Given the description of an element on the screen output the (x, y) to click on. 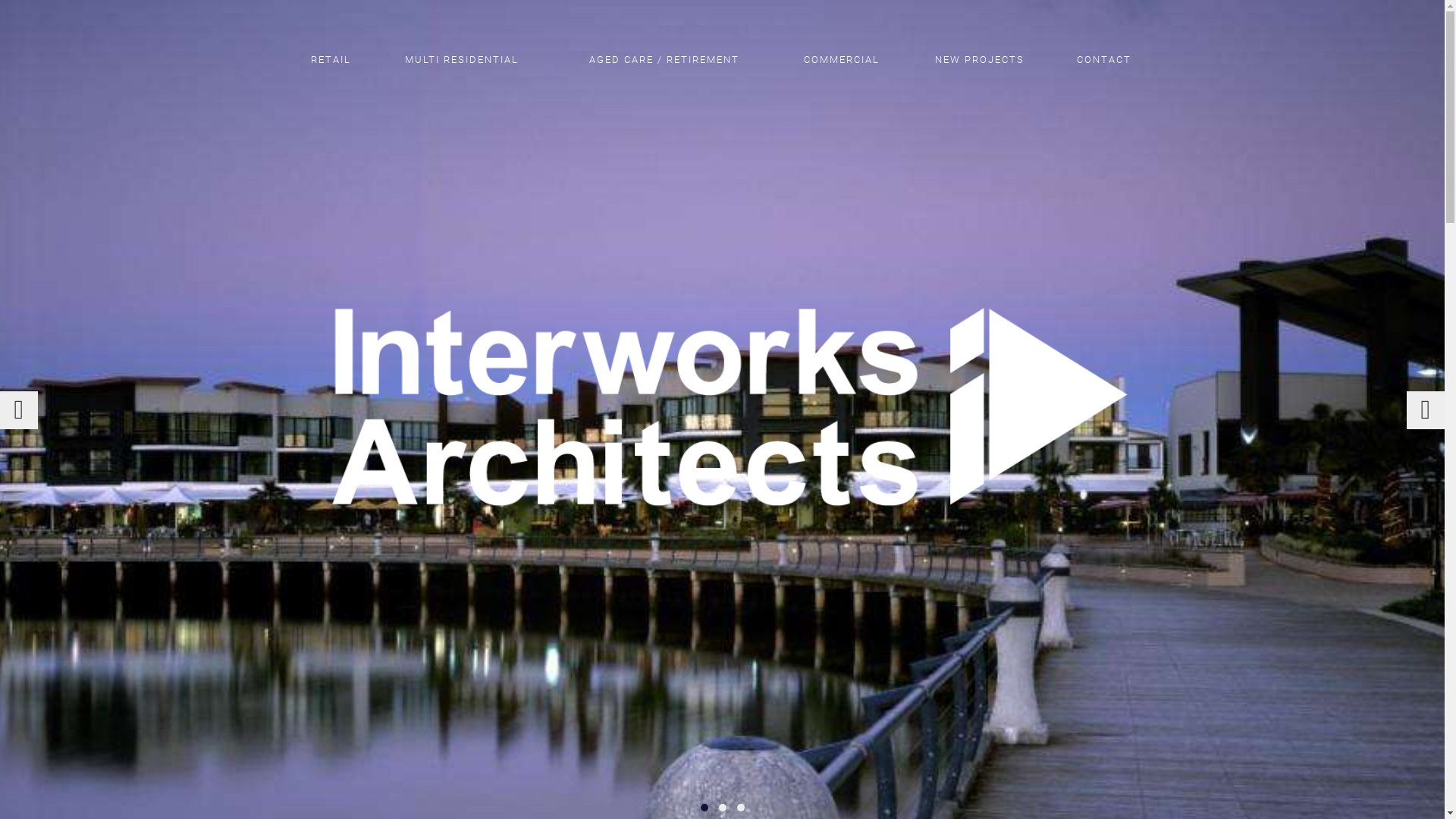
MULTI RESIDENTIAL Element type: text (461, 59)
CONTACT Element type: text (1103, 59)
COMMERCIAL Element type: text (841, 59)
RETAIL Element type: text (330, 59)
NEW PROJECTS Element type: text (979, 59)
AGED CARE / RETIREMENT Element type: text (664, 59)
